Given the description of an element on the screen output the (x, y) to click on. 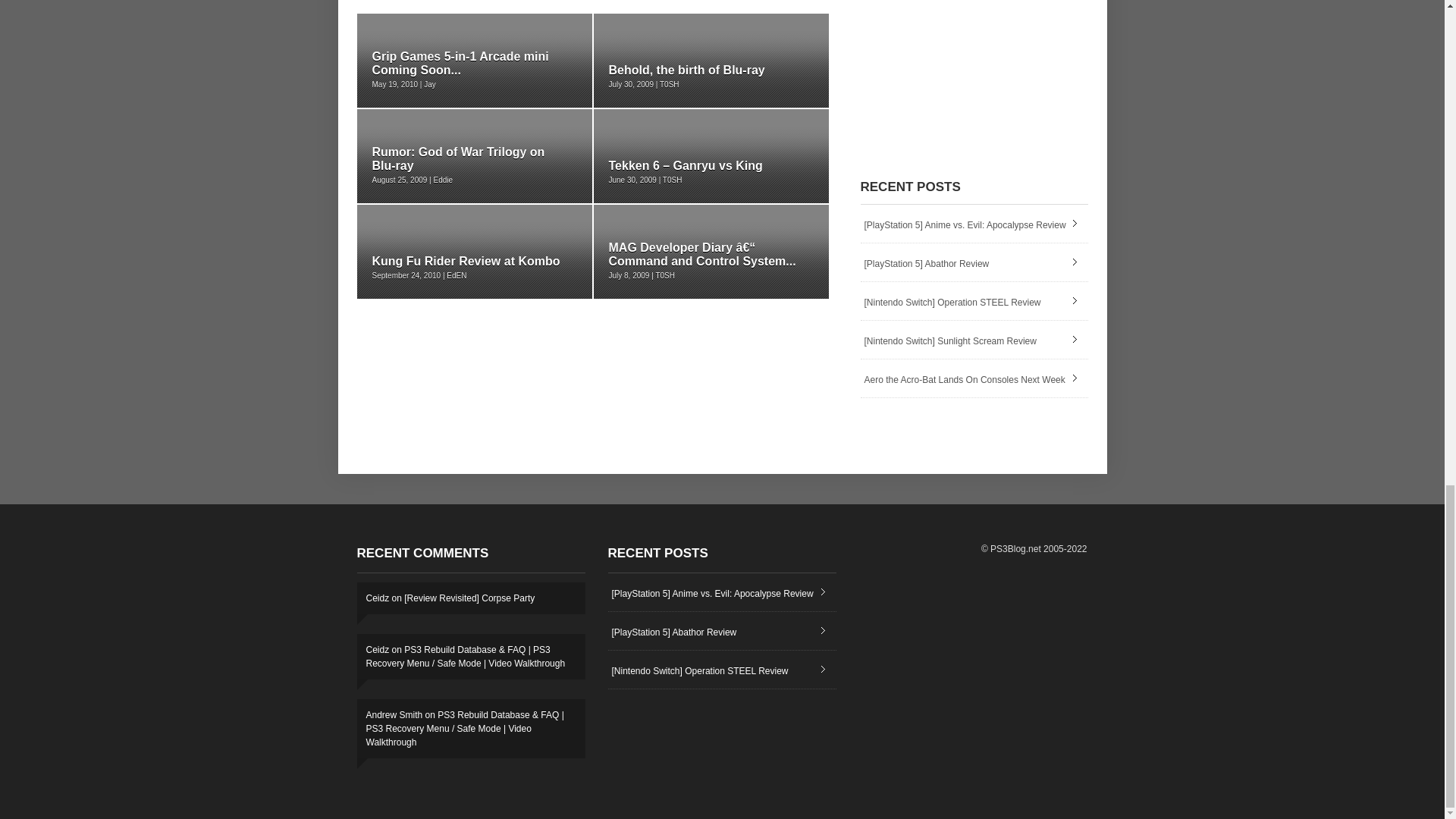
Advertisement (973, 68)
